Given the description of an element on the screen output the (x, y) to click on. 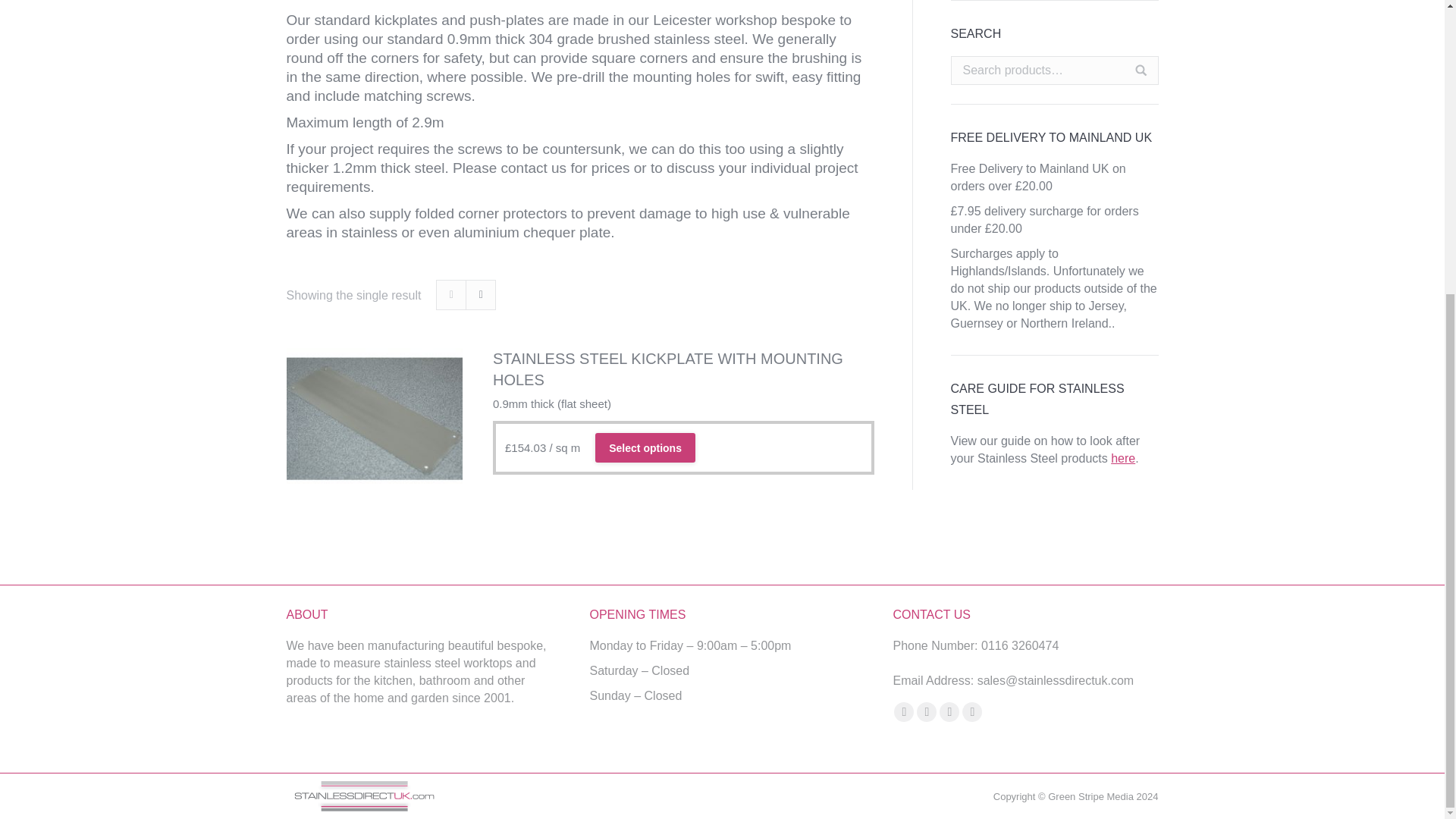
Pinterest (949, 711)
Instagram (971, 711)
Facebook (903, 711)
Twitter (926, 711)
Stainless Steel Kickplate with mounting holes (684, 369)
Search (1140, 70)
